Given the description of an element on the screen output the (x, y) to click on. 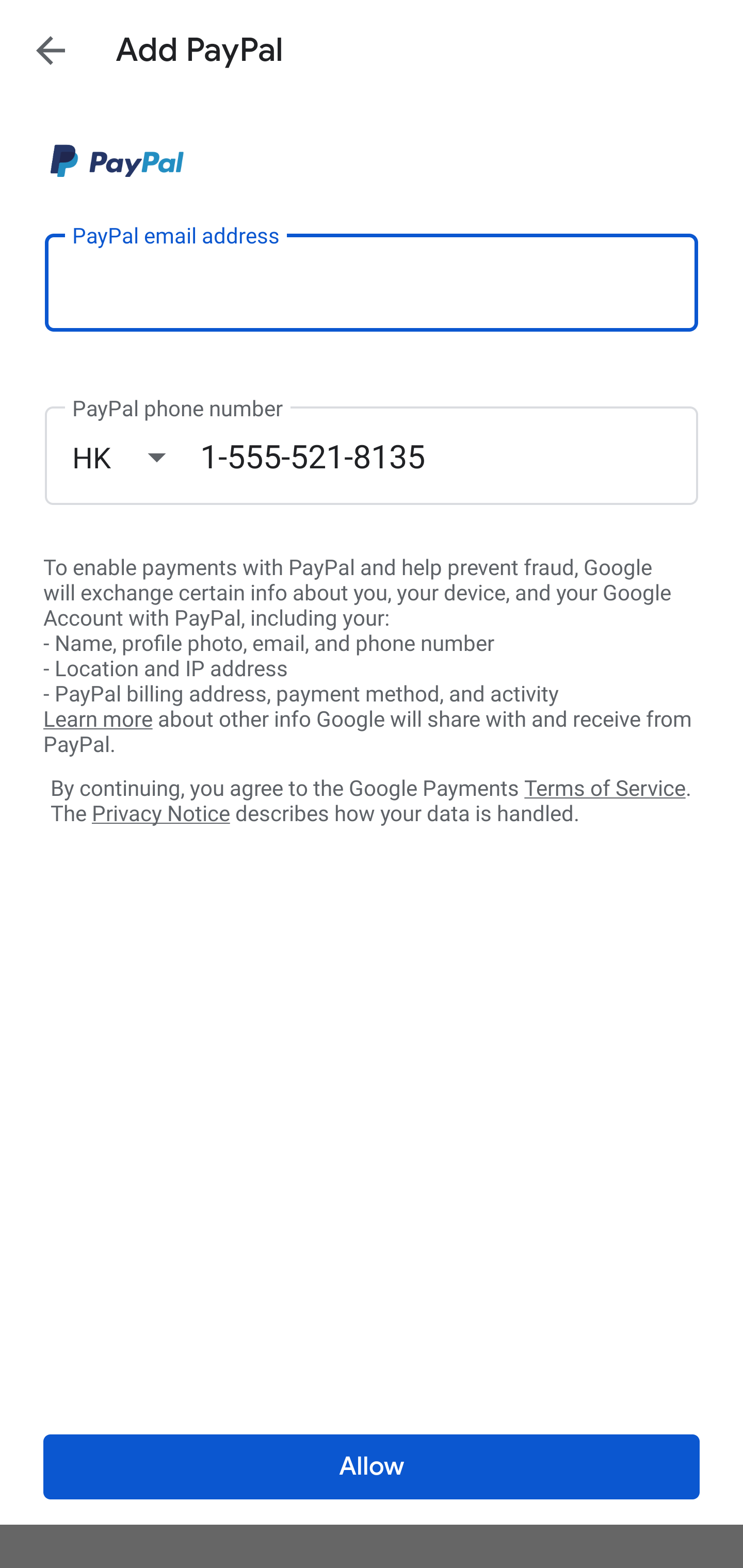
Navigate up (50, 50)
PayPal email address (371, 282)
HK (135, 456)
Learn more (97, 719)
Terms of Service (604, 787)
Privacy Notice (160, 814)
Allow (371, 1466)
